Given the description of an element on the screen output the (x, y) to click on. 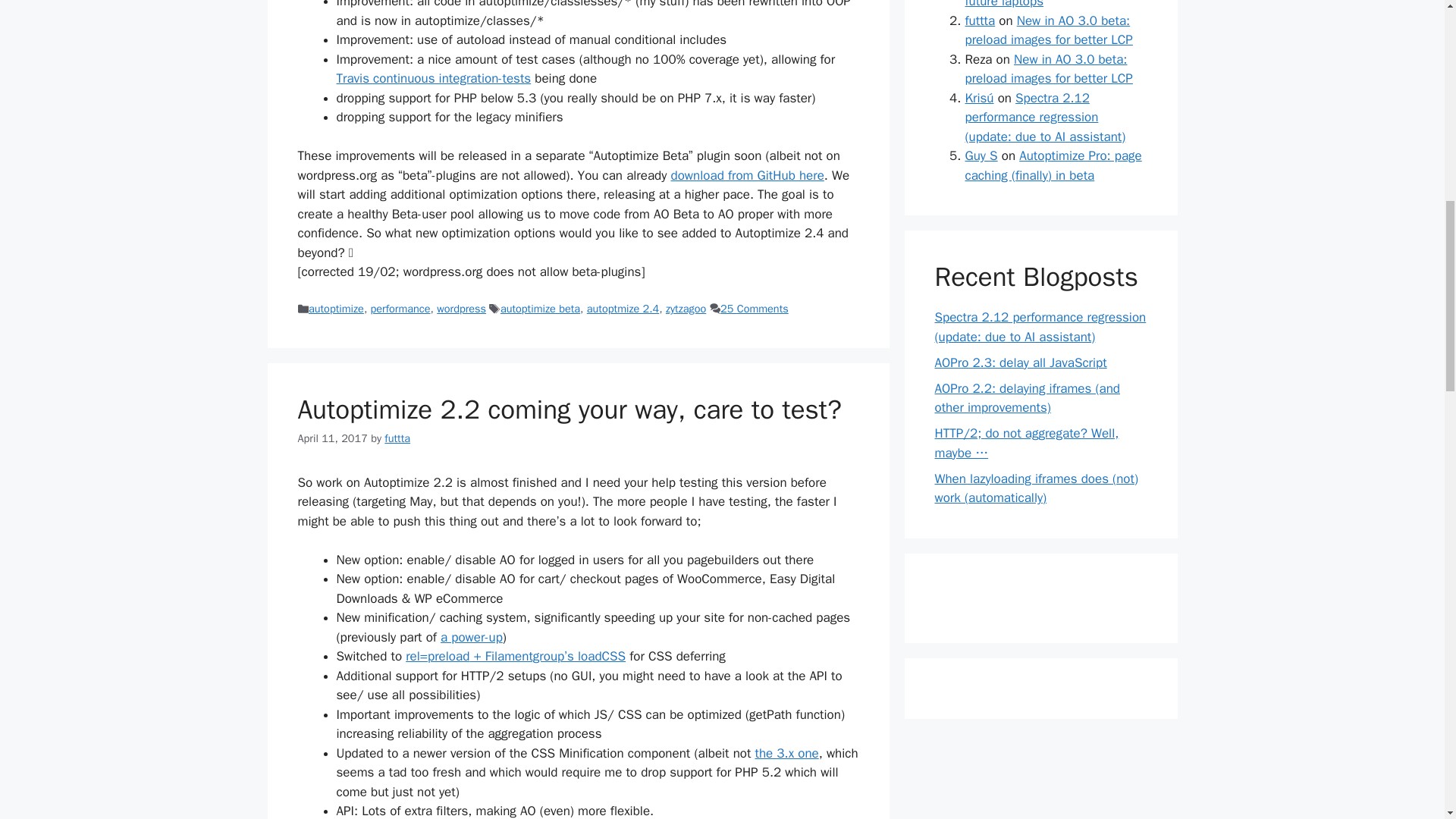
View all posts by futtta (397, 438)
futtta (397, 438)
zytzagoo (685, 308)
download from GitHub here (747, 175)
Travis continuous integration-tests (433, 78)
autoptimize (336, 308)
autoptmize 2.4 (622, 308)
autoptimize beta (539, 308)
a power-up (471, 637)
Autoptimize 2.2 coming your way, care to test? (569, 409)
the 3.x one (786, 753)
25 Comments (754, 308)
performance (400, 308)
wordpress (461, 308)
